Given the description of an element on the screen output the (x, y) to click on. 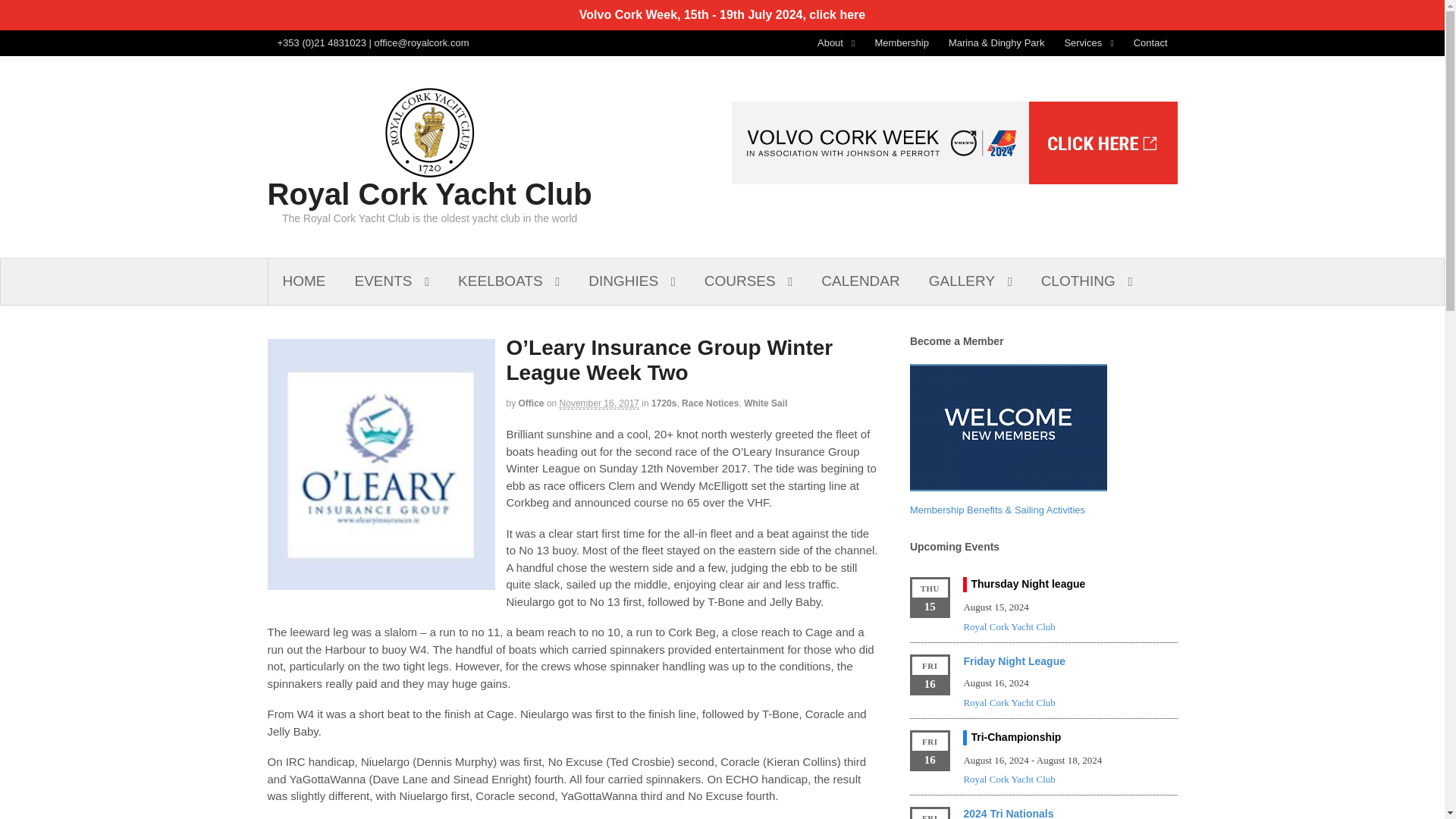
View all items in White Sail (765, 403)
Membership (901, 43)
EVENTS (391, 281)
Contact (1150, 43)
Services (1088, 43)
click here (836, 14)
About (836, 43)
Posts by office (531, 403)
Royal Cork Yacht Club (428, 193)
